Given the description of an element on the screen output the (x, y) to click on. 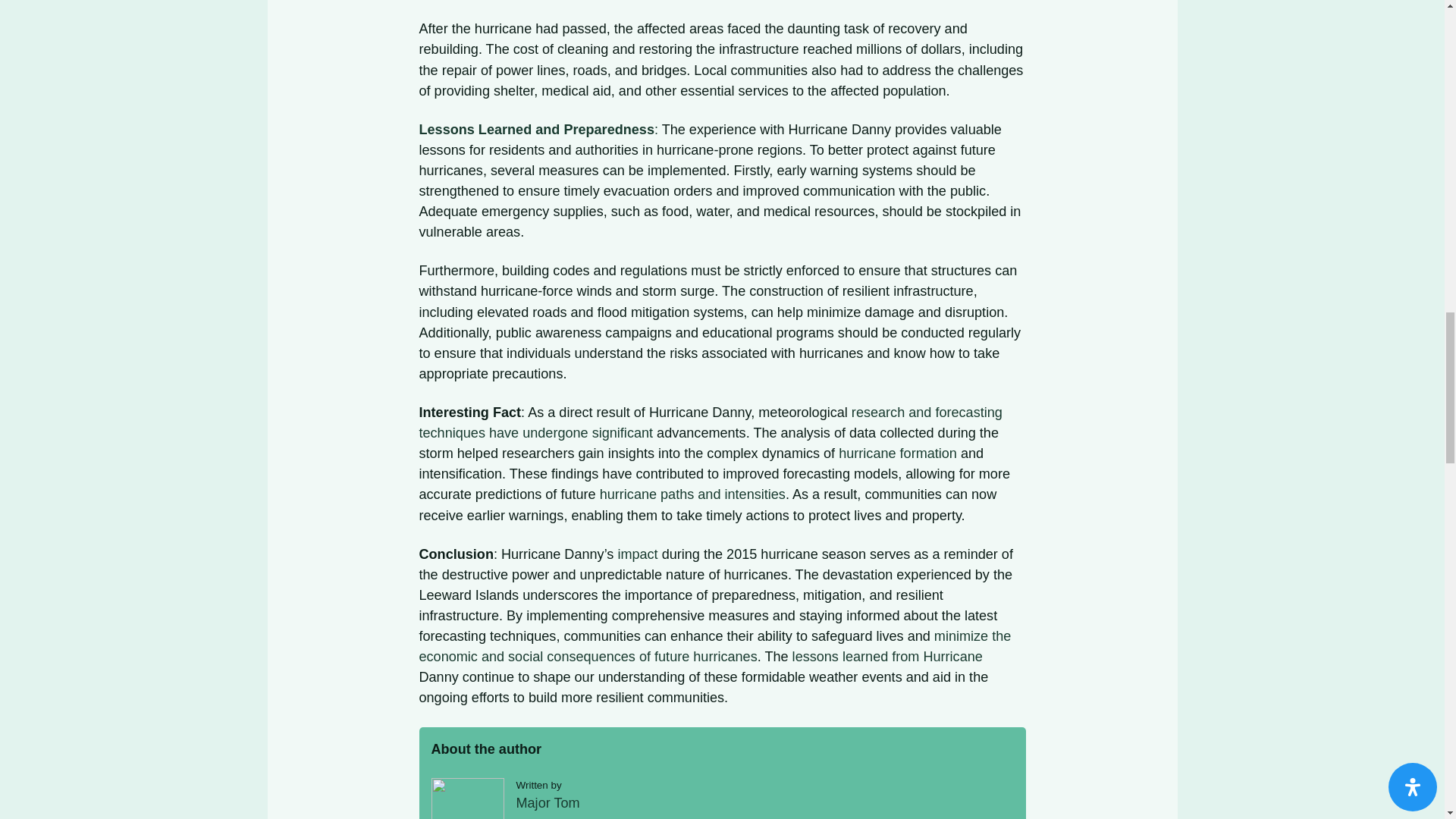
hurricane formation (897, 453)
lessons learned from Hurricane (887, 656)
hurricane paths and intensities (692, 494)
Lessons Learned and Preparedness: (538, 129)
Major Tom (547, 802)
impact (637, 554)
